Given the description of an element on the screen output the (x, y) to click on. 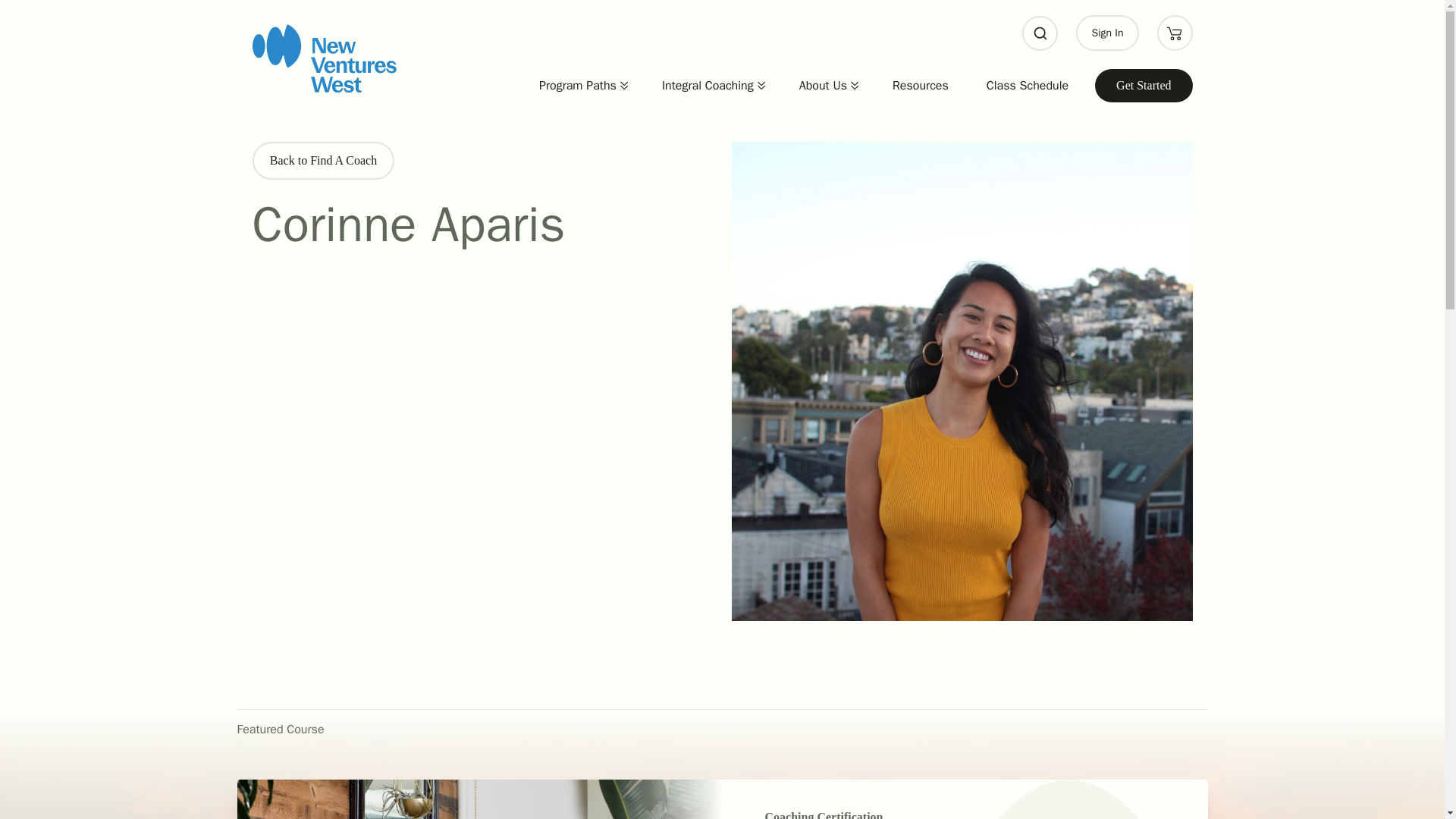
Class Schedule (1027, 85)
Resources (919, 85)
Back to Find A Coach (322, 160)
Integral Coaching (703, 85)
Sign In (1106, 32)
About Us (818, 85)
Get Started (1143, 85)
Program Paths (573, 85)
